Given the description of an element on the screen output the (x, y) to click on. 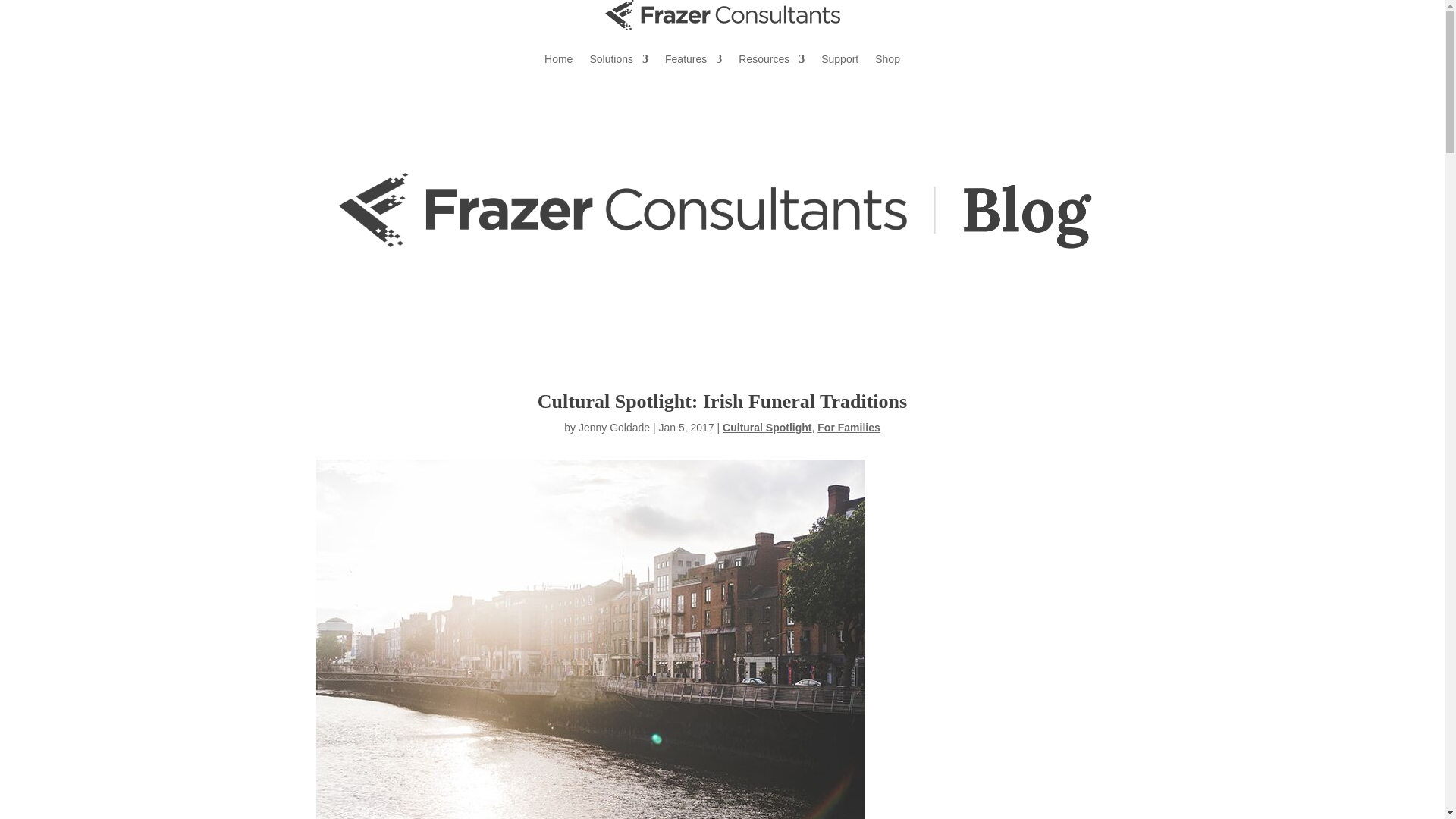
Jenny Goldade (613, 427)
Resources (771, 58)
Features (693, 58)
Solutions (618, 58)
Posts by Jenny Goldade (613, 427)
For Families (847, 427)
Cultural Spotlight (766, 427)
